Given the description of an element on the screen output the (x, y) to click on. 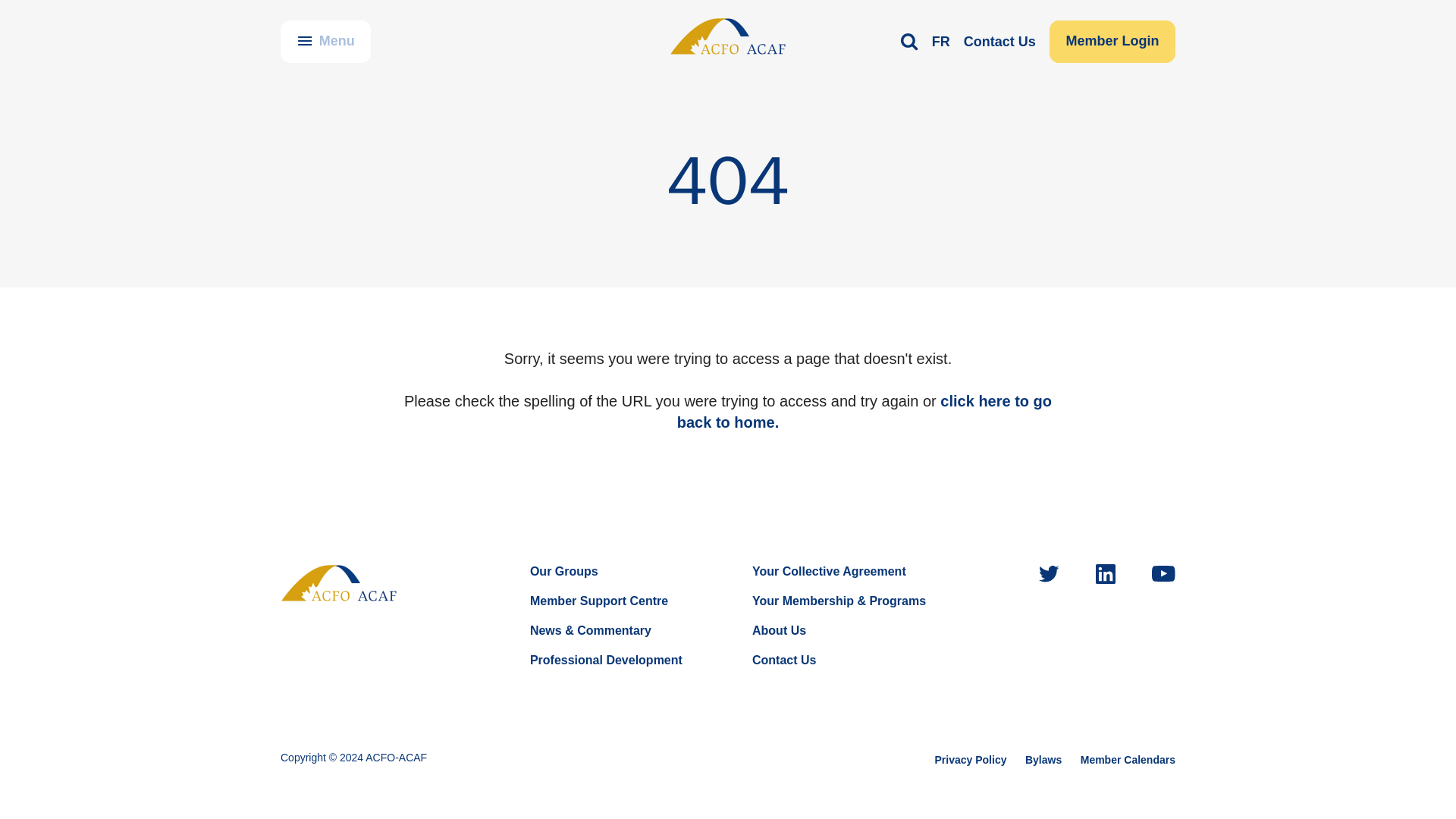
About Us (779, 630)
Professional Development (605, 659)
click here to go back to home. (864, 411)
Member Calendars (1127, 759)
FR (940, 41)
Our Groups (563, 571)
Contact Us (783, 659)
Bylaws (1043, 759)
Member Login (1111, 41)
Privacy Policy (970, 759)
Your Collective Agreement (828, 571)
Menu (326, 41)
Contact Us (999, 41)
Member Support Centre (598, 600)
